Given the description of an element on the screen output the (x, y) to click on. 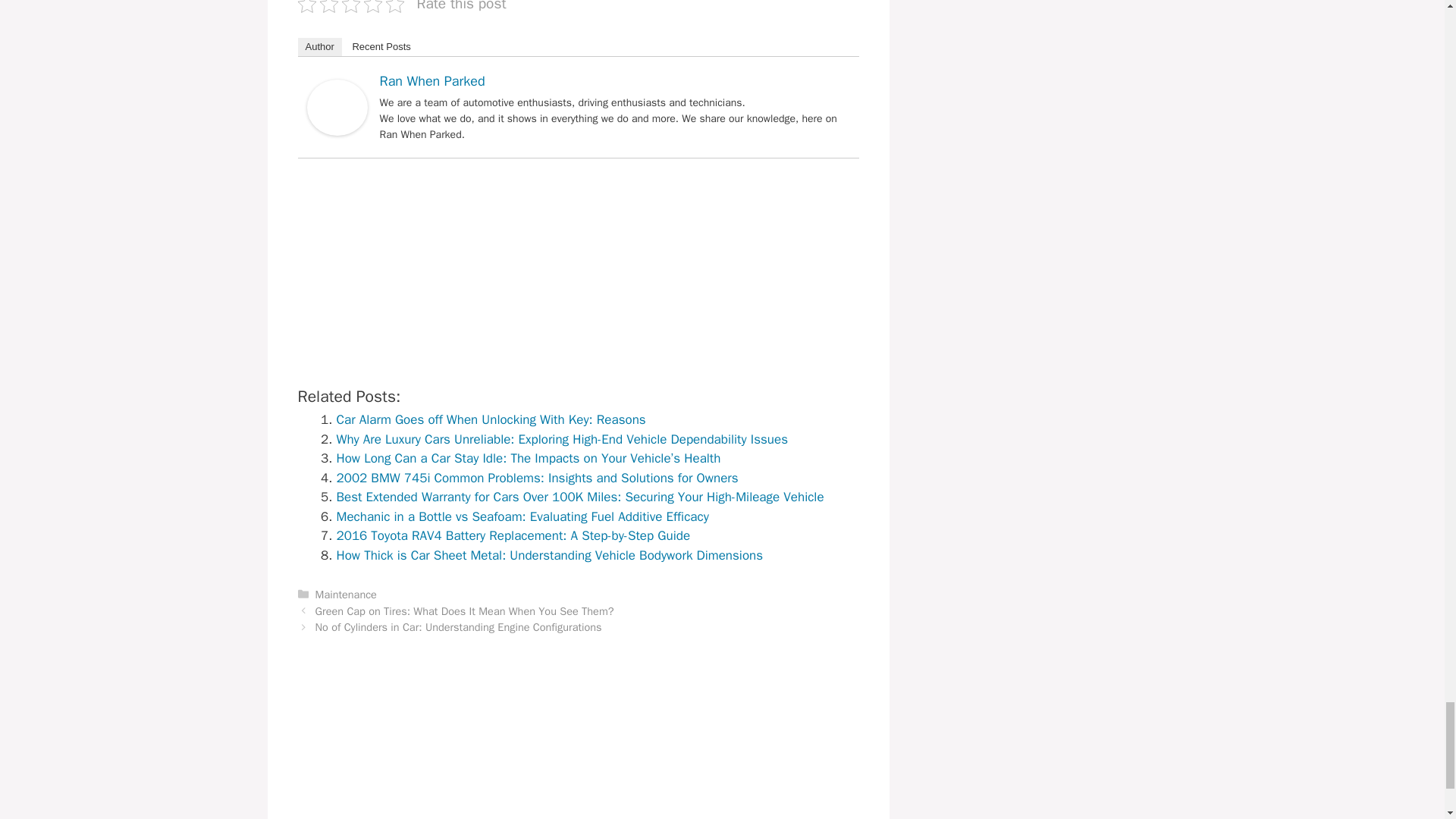
Car Alarm Goes off When Unlocking With Key: Reasons (491, 419)
2016 Toyota RAV4 Battery Replacement: A Step-by-Step Guide (513, 535)
Ran When Parked (335, 131)
